Given the description of an element on the screen output the (x, y) to click on. 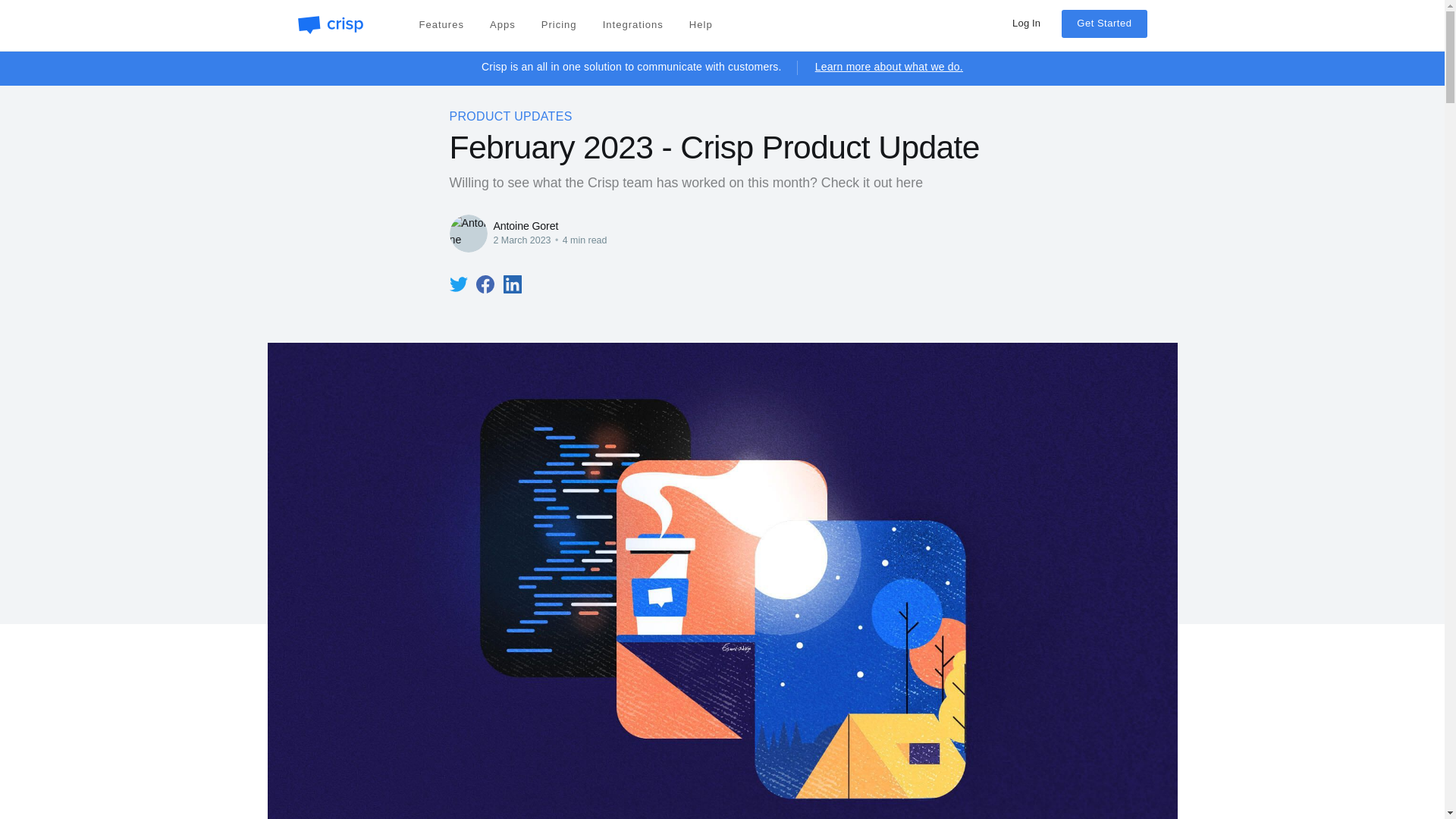
Integrations (633, 24)
Learn more about what we do. (888, 66)
PRODUCT UPDATES (510, 116)
Features (440, 24)
Log In (1026, 22)
Get Started (1104, 23)
Antoine Goret (525, 225)
Pricing (559, 24)
